Given the description of an element on the screen output the (x, y) to click on. 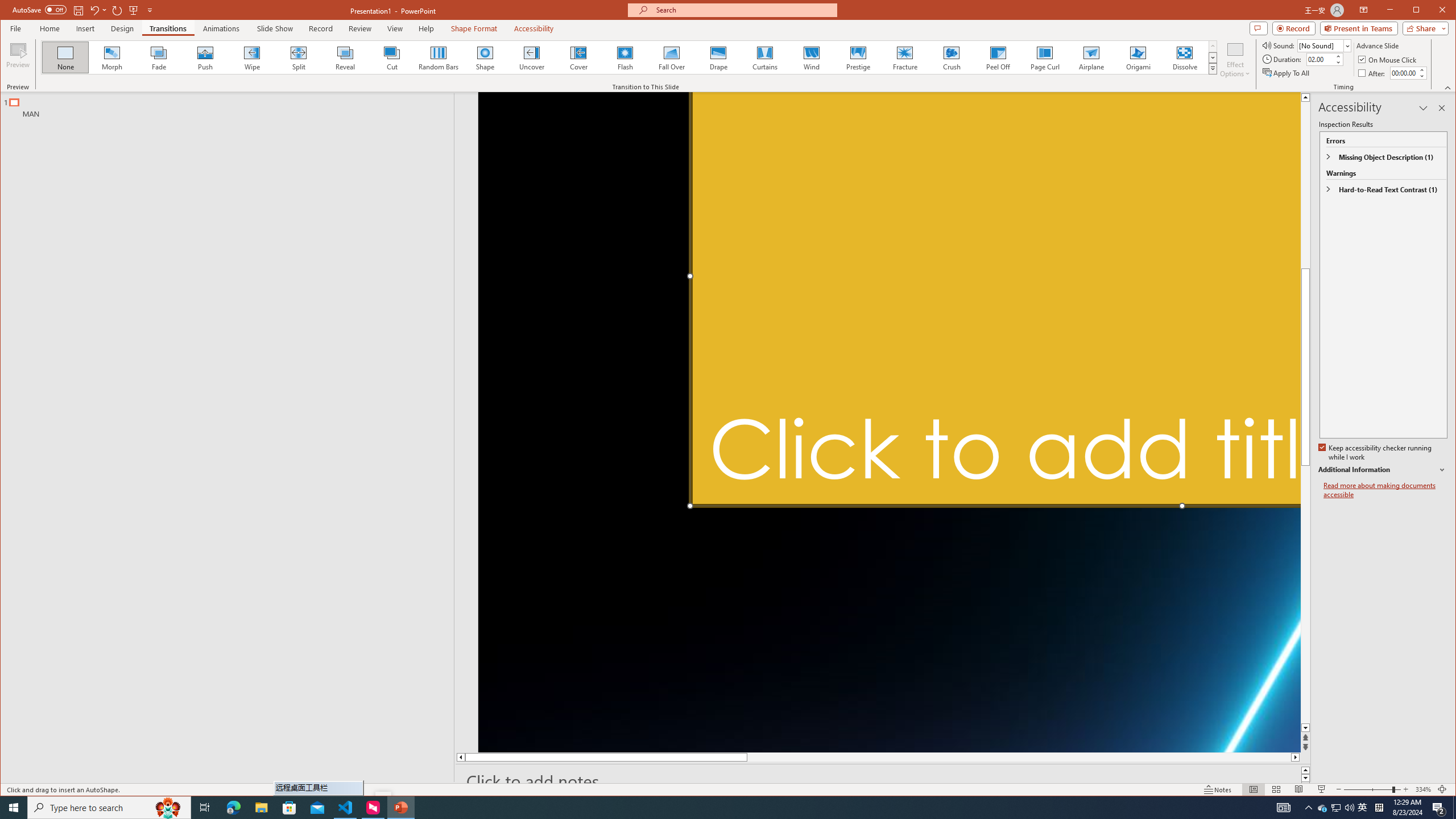
Effect Options (1235, 59)
Apply To All (1286, 72)
Airplane (1091, 57)
Prestige (857, 57)
More (1421, 69)
Maximize (1432, 11)
AutomationID: AnimationTransitionGallery (629, 57)
